Given the description of an element on the screen output the (x, y) to click on. 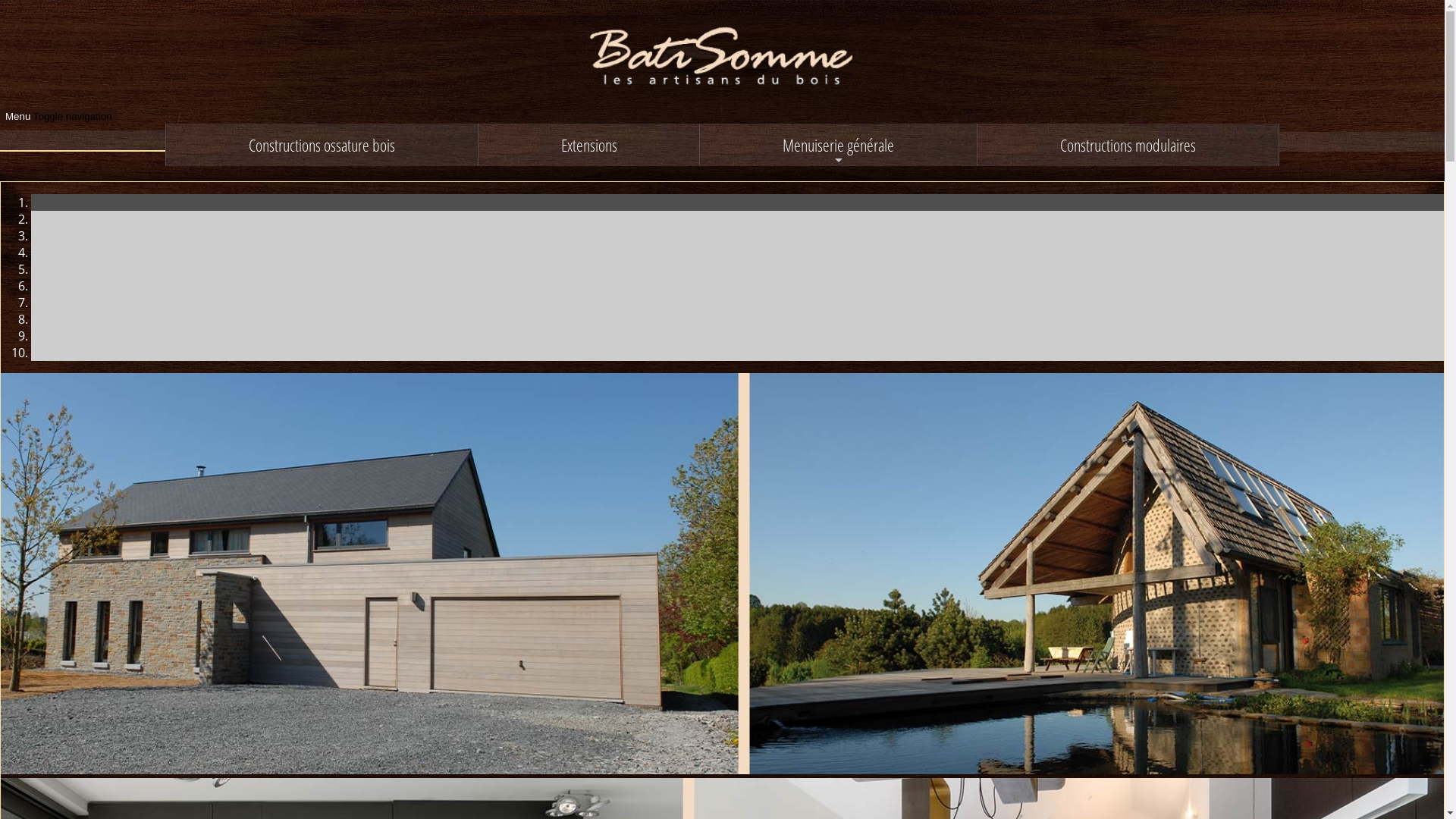
Extensions Element type: text (588, 144)
Constructions ossature bois Element type: text (321, 144)
Constructions modulaires Element type: text (1127, 144)
Menu Toggle navigation Element type: text (58, 116)
